Given the description of an element on the screen output the (x, y) to click on. 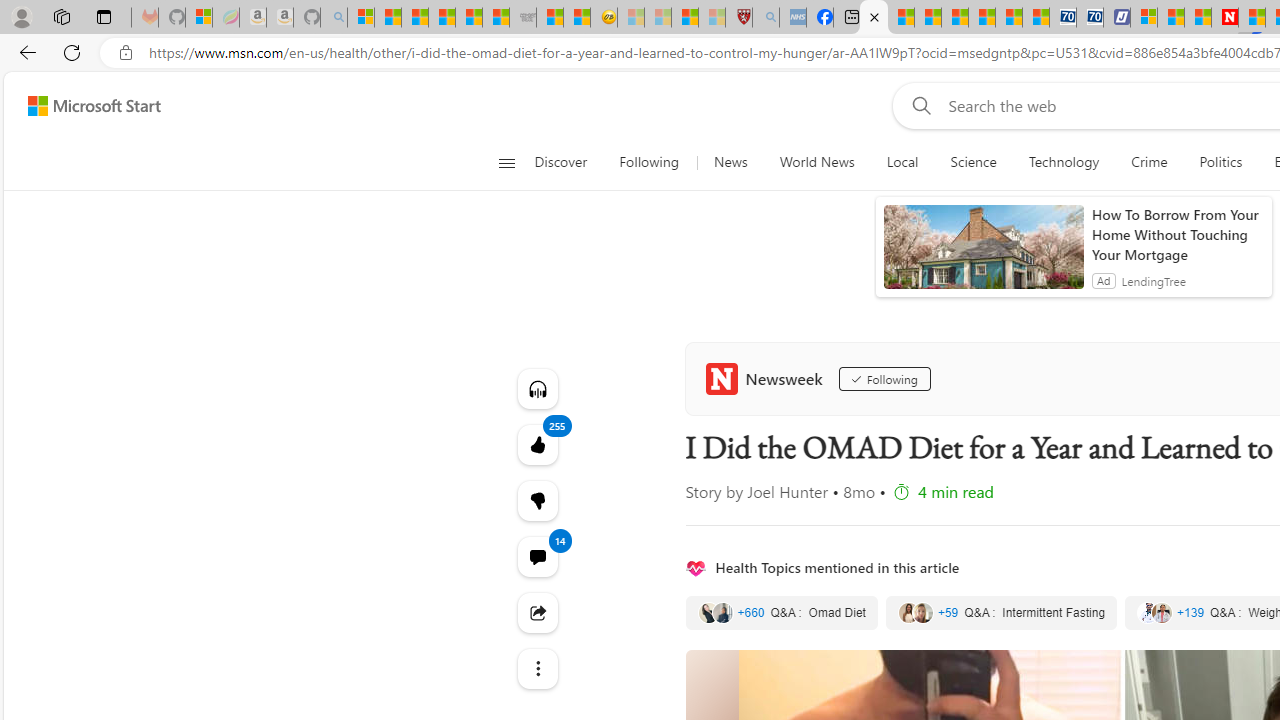
Newsweek - News, Analysis, Politics, Business, Technology (1224, 17)
